Given the description of an element on the screen output the (x, y) to click on. 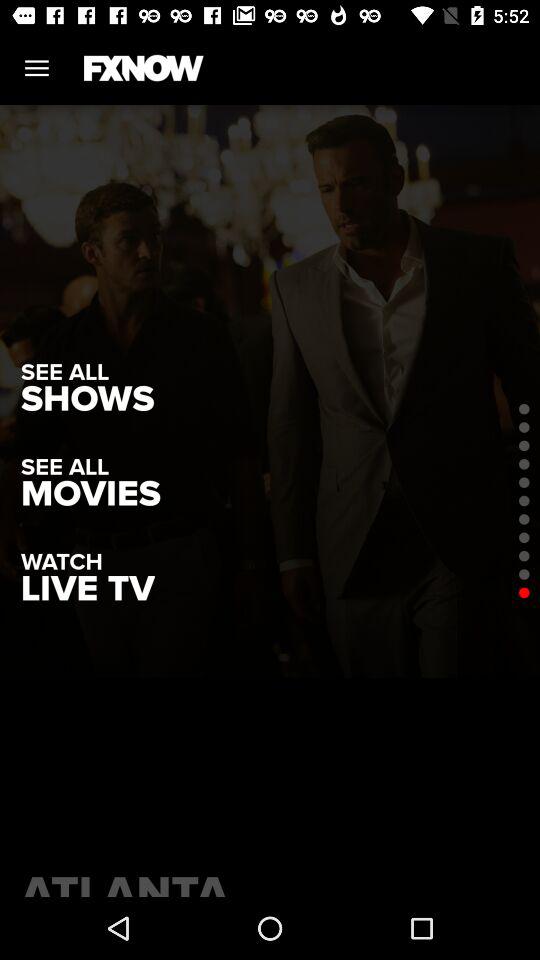
click the icon above atlanta (87, 588)
